Given the description of an element on the screen output the (x, y) to click on. 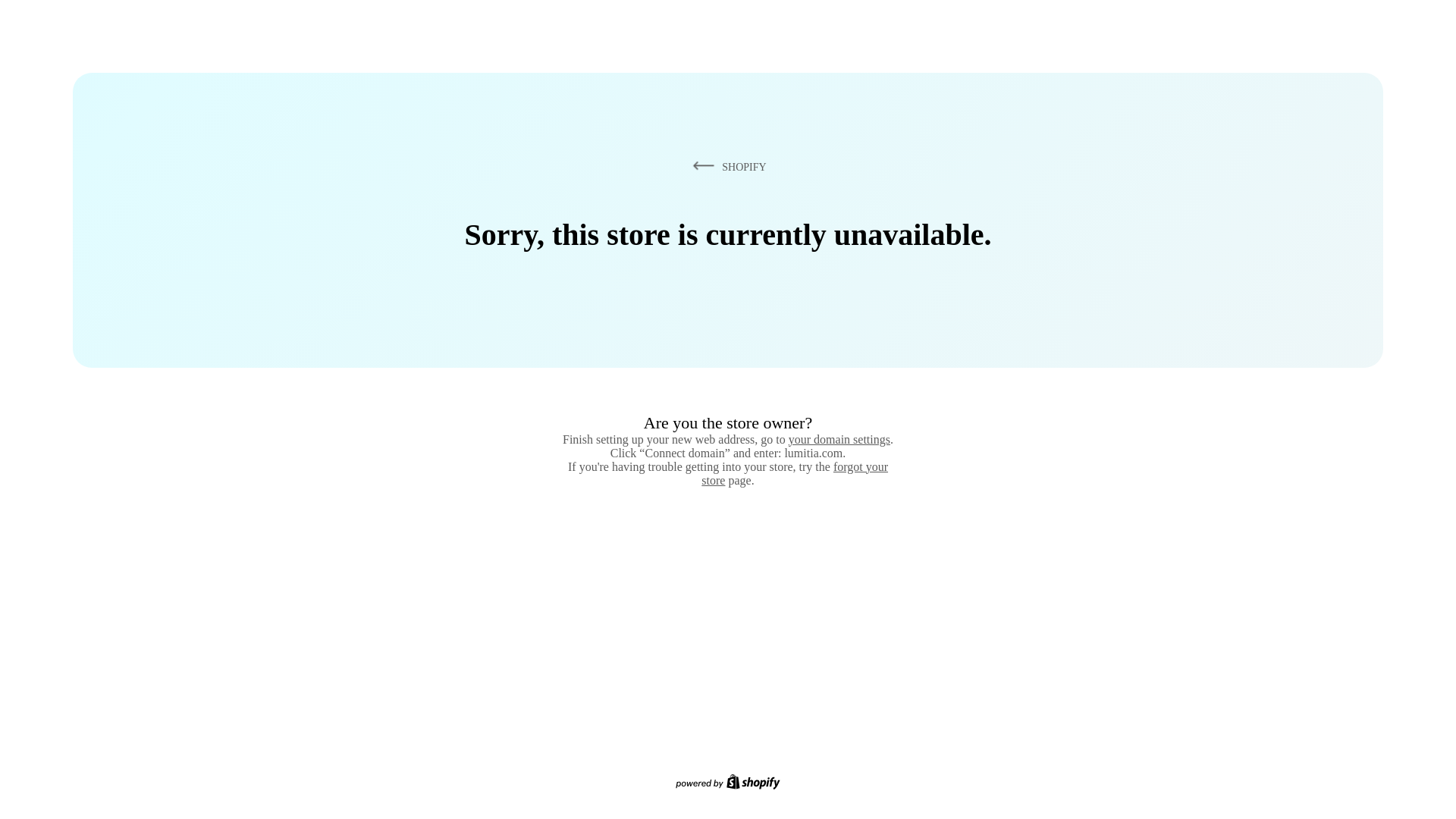
your domain settings (839, 439)
SHOPIFY (726, 166)
forgot your store (794, 473)
